Given the description of an element on the screen output the (x, y) to click on. 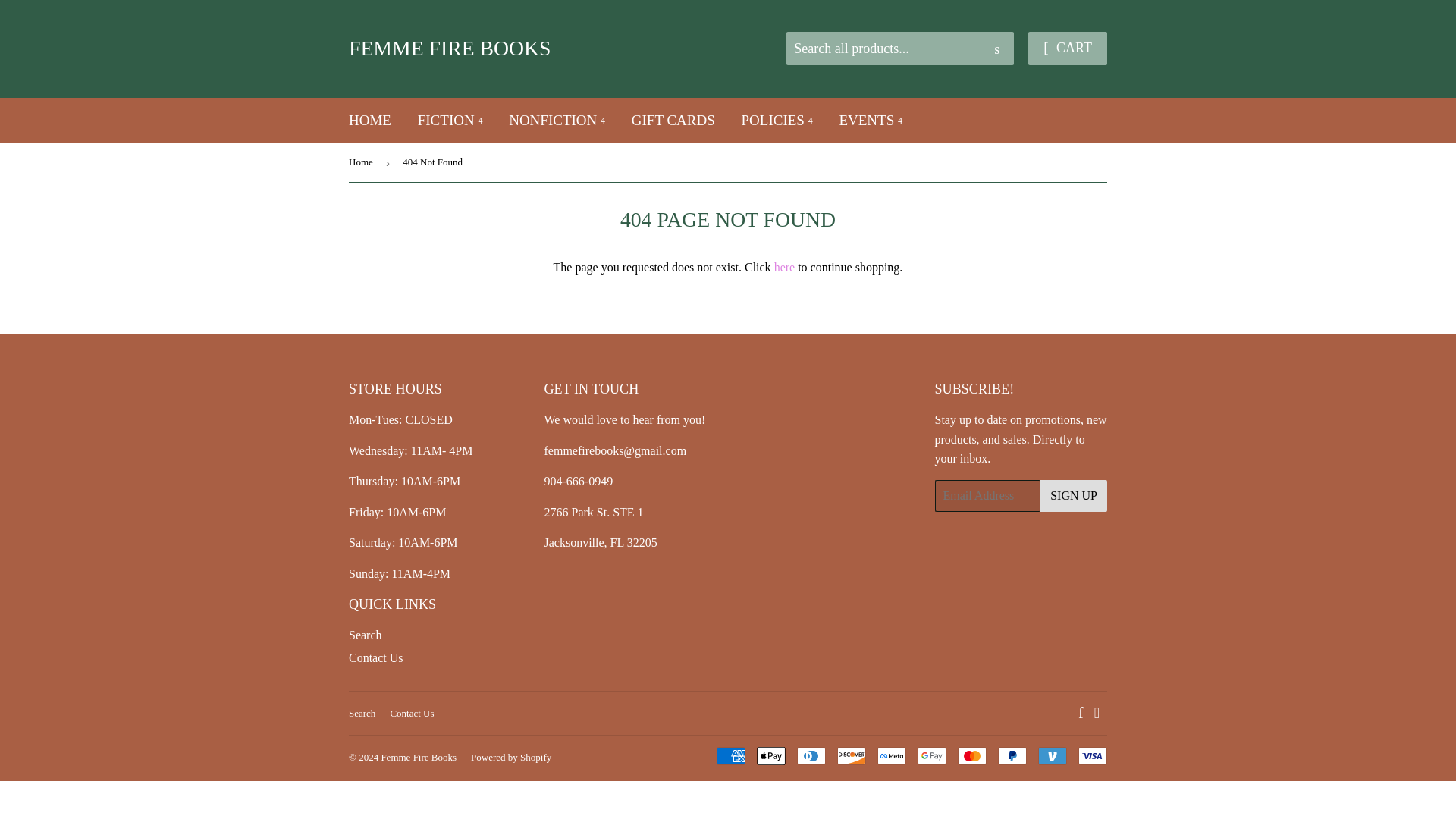
Apple Pay (771, 755)
Visa (1092, 755)
FEMME FIRE BOOKS (538, 48)
Google Pay (931, 755)
Discover (851, 755)
Search (996, 49)
CART (1066, 48)
Diners Club (810, 755)
Meta Pay (891, 755)
PayPal (1011, 755)
American Express (730, 755)
Venmo (1052, 755)
Mastercard (972, 755)
